Given the description of an element on the screen output the (x, y) to click on. 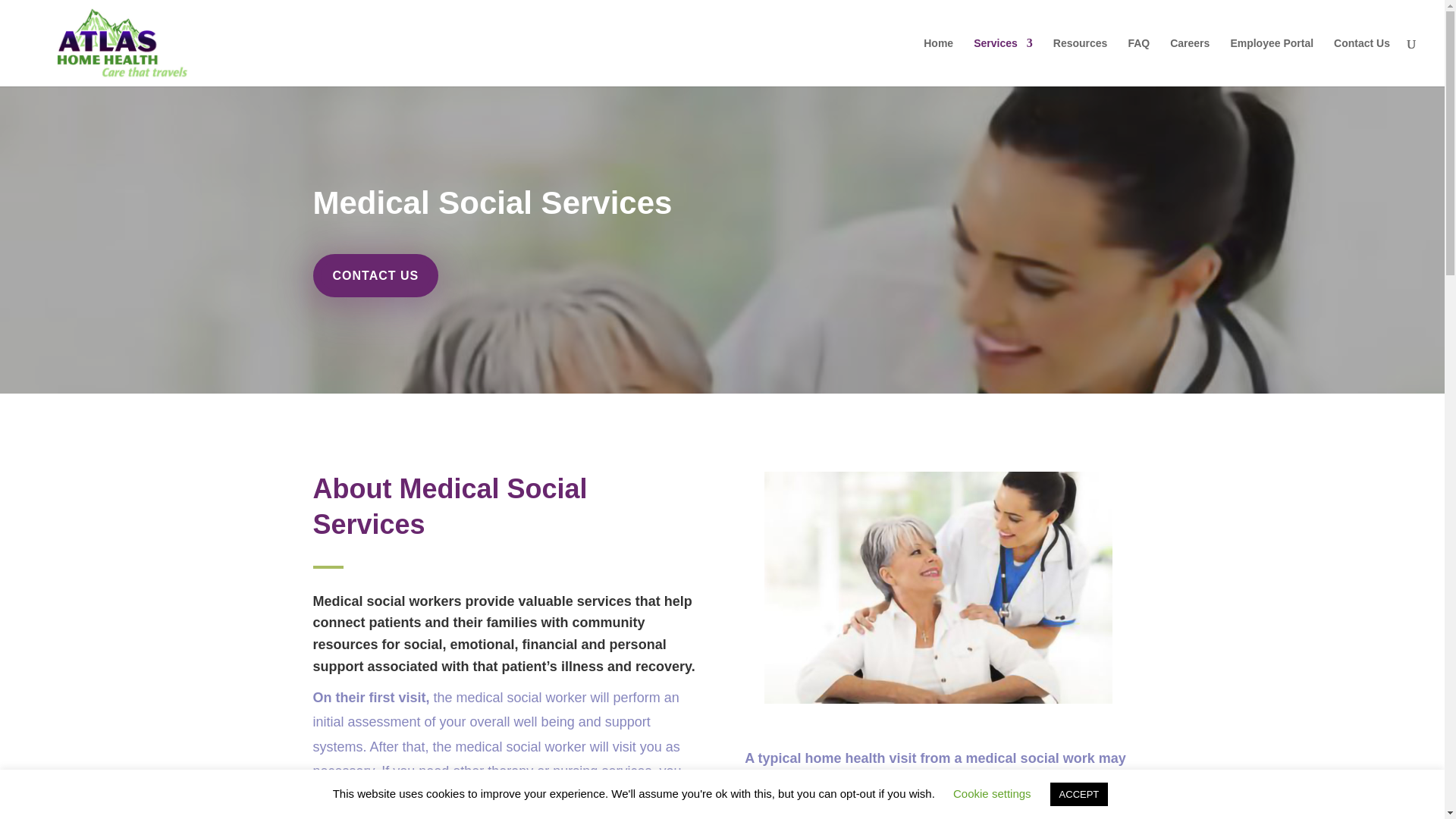
Employee Portal (1271, 61)
Services (1003, 61)
Contact Us (1361, 61)
Resources (1080, 61)
CONTACT US (375, 275)
